Given the description of an element on the screen output the (x, y) to click on. 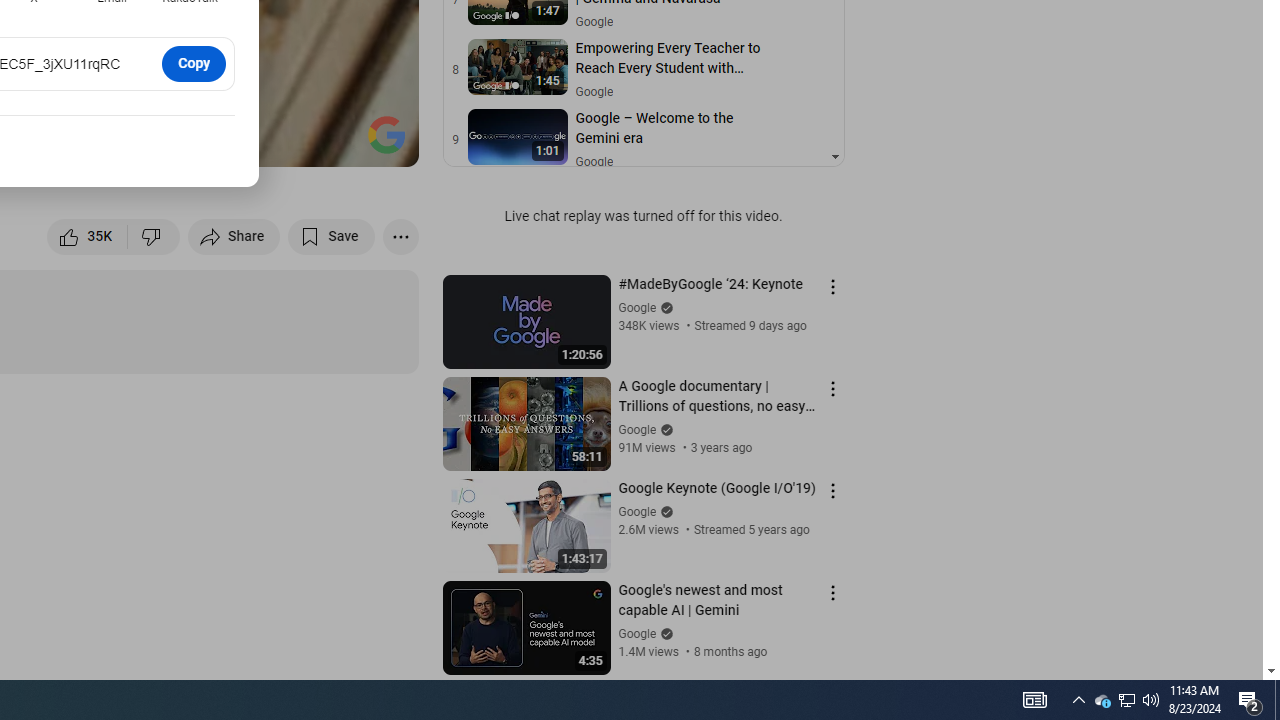
Channel watermark (386, 134)
Channel watermark (386, 134)
Copy (194, 63)
Save to playlist (331, 236)
